Given the description of an element on the screen output the (x, y) to click on. 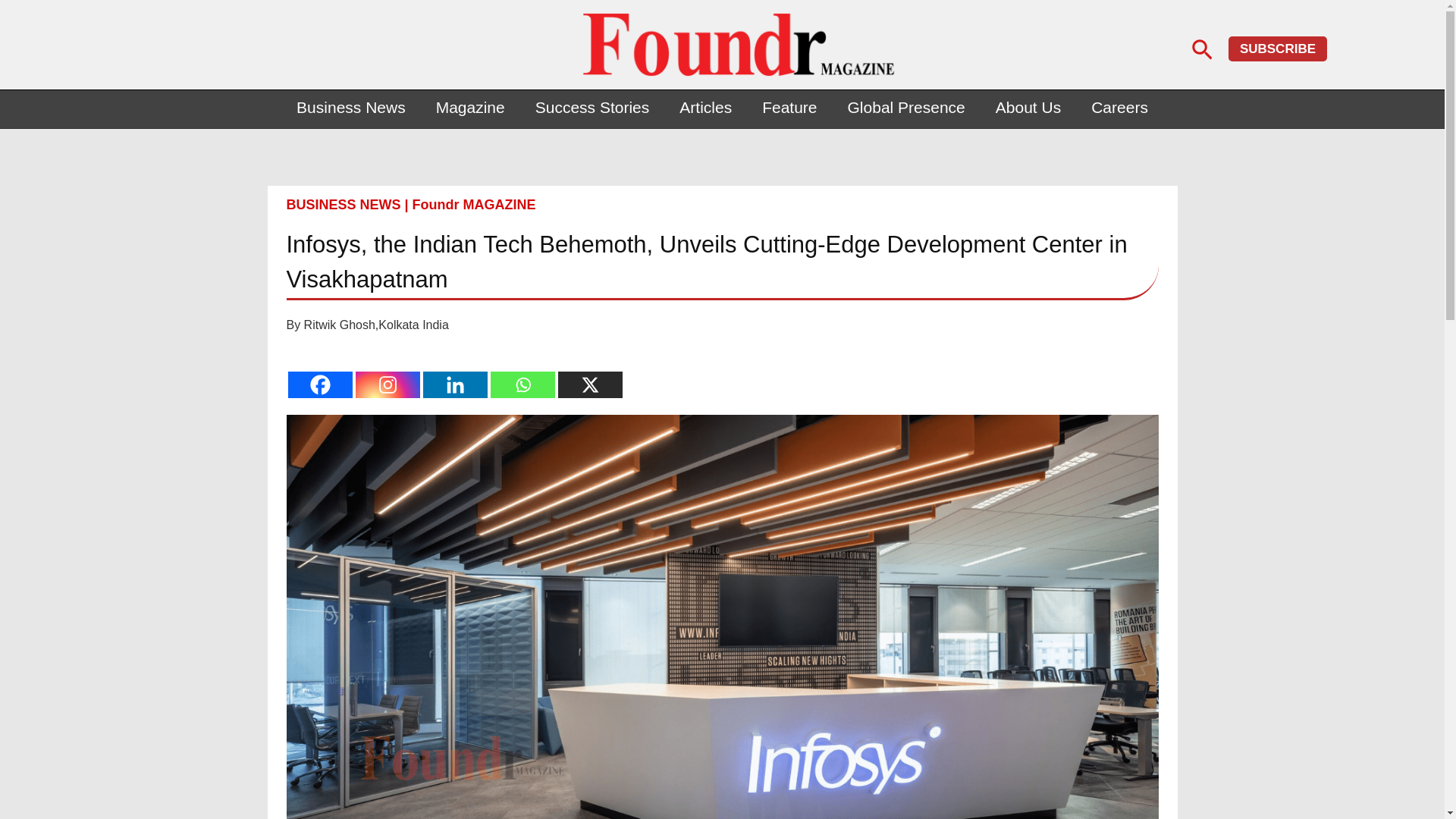
Global Presence (905, 107)
Articles (704, 107)
Whatsapp (521, 384)
Magazine (469, 107)
About Us (1027, 107)
Business News (350, 107)
Linkedin (455, 384)
Facebook (320, 384)
SUBSCRIBE (1277, 48)
Instagram (387, 384)
Feature (788, 107)
Success Stories (592, 107)
X (590, 384)
Careers (1119, 107)
